Given the description of an element on the screen output the (x, y) to click on. 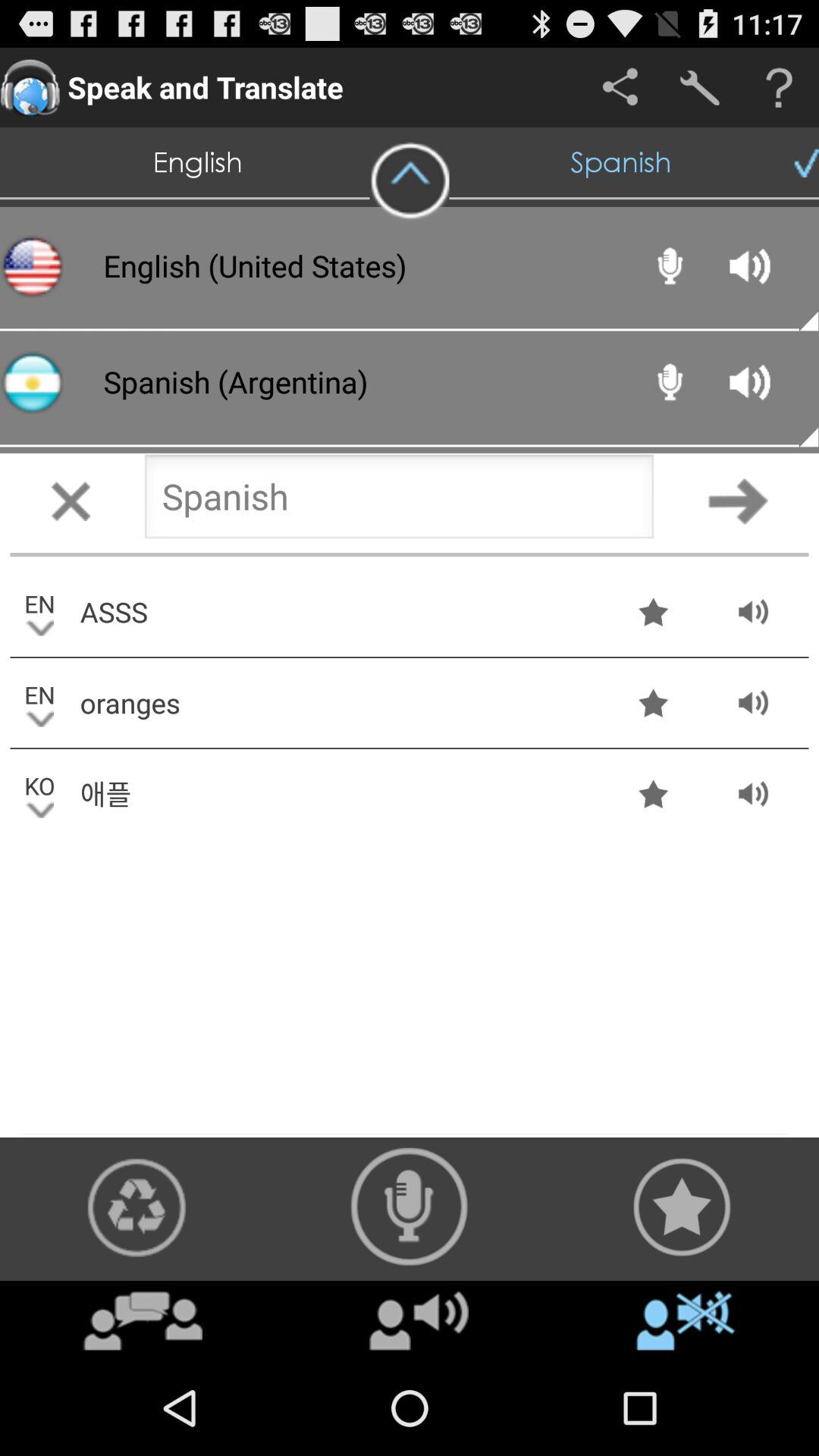
go to speaker (409, 1206)
